Given the description of an element on the screen output the (x, y) to click on. 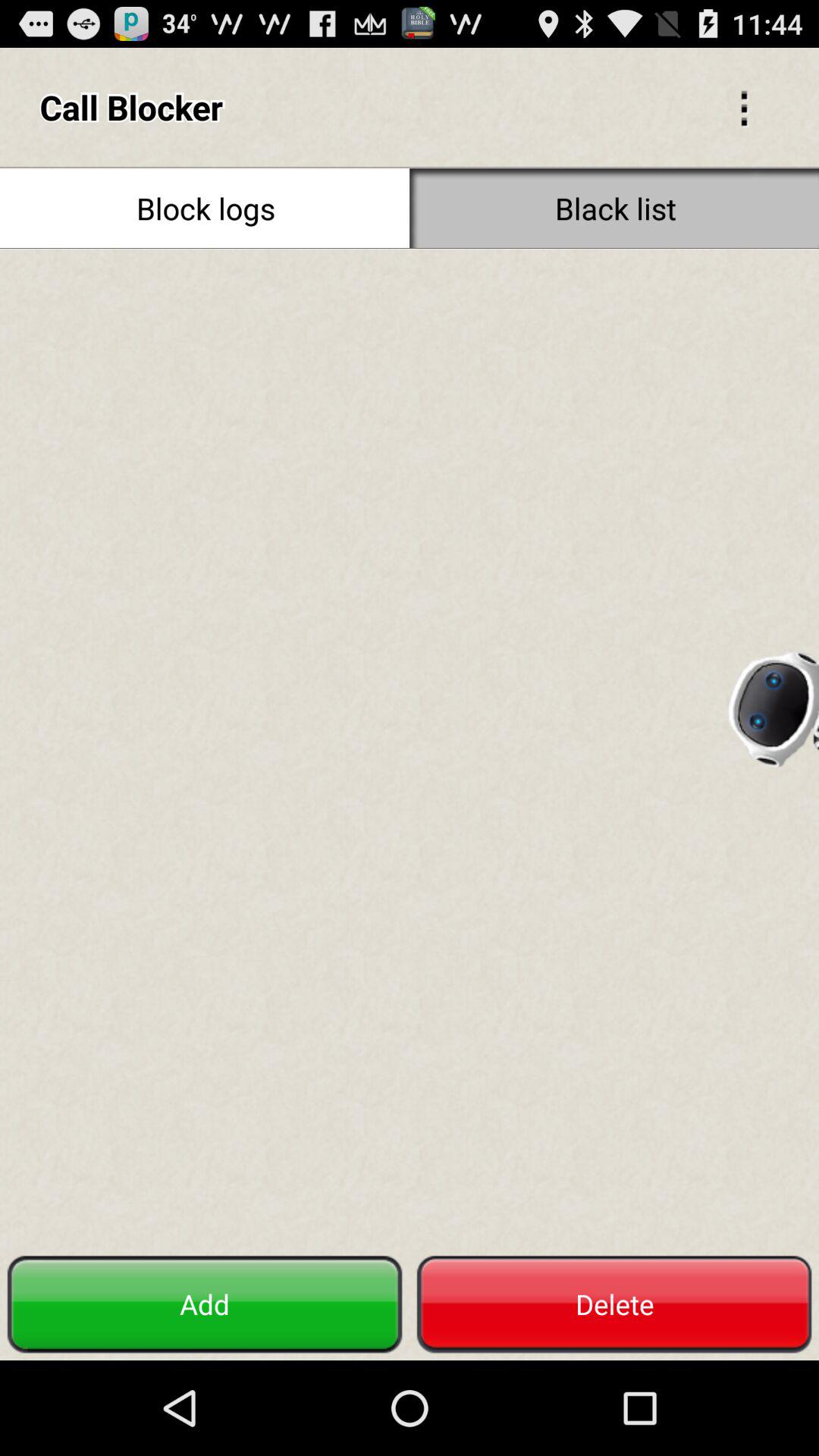
turn off icon on the right (772, 703)
